Given the description of an element on the screen output the (x, y) to click on. 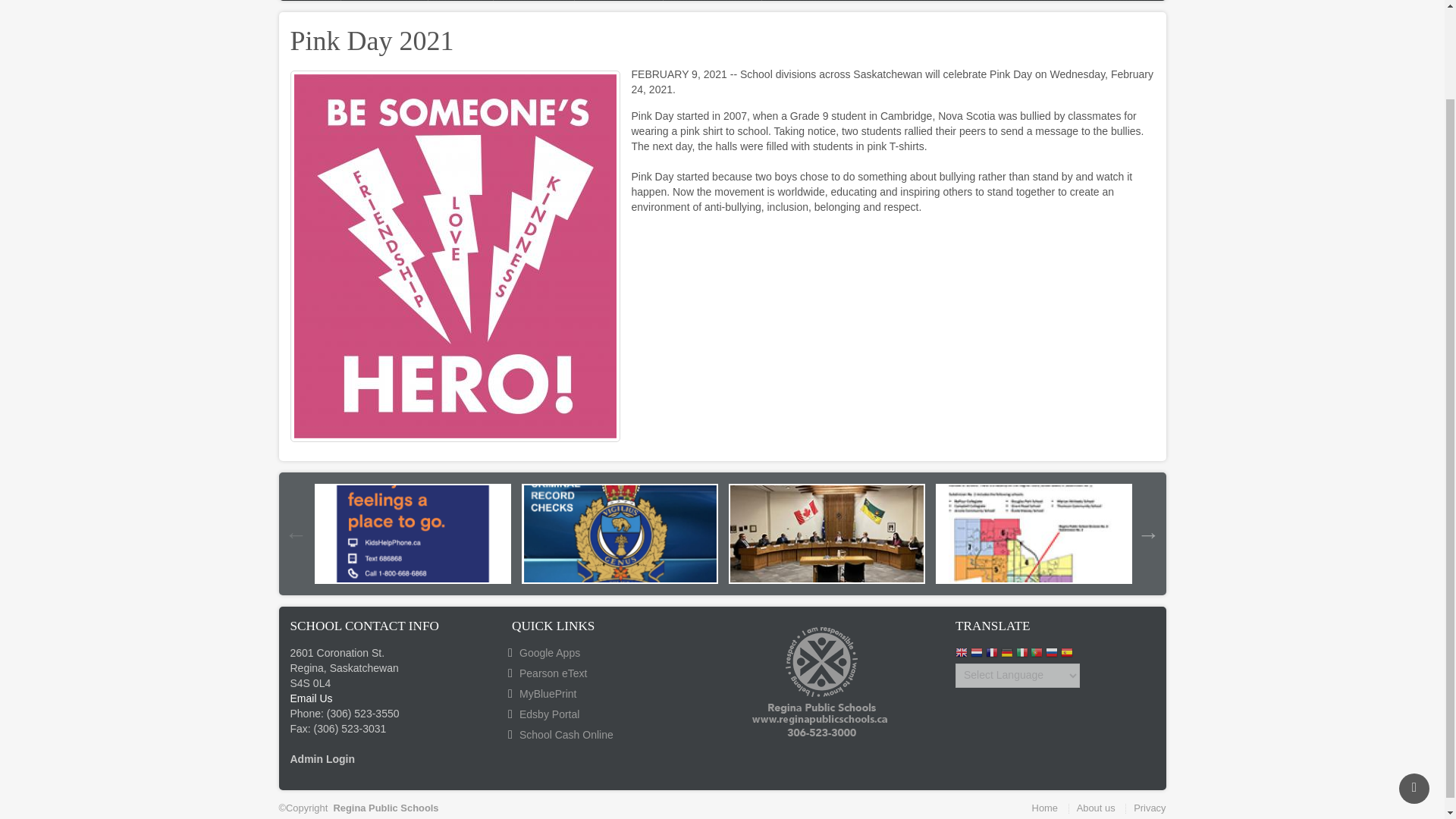
HOME (309, 0)
Back to Top (1414, 685)
NEWS (460, 0)
